Given the description of an element on the screen output the (x, y) to click on. 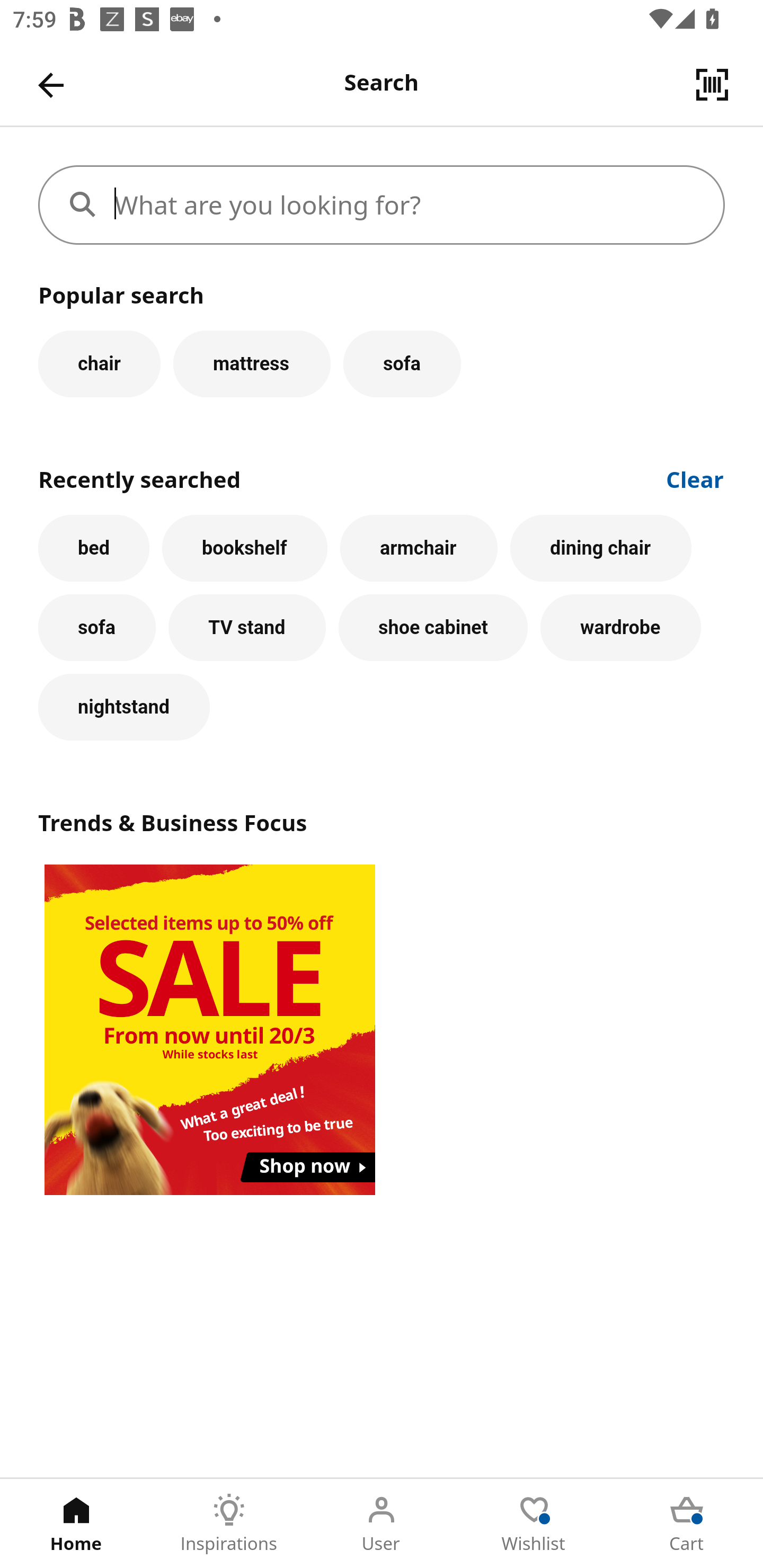
chair (99, 363)
mattress (251, 363)
sofa (401, 363)
Clear (695, 477)
bed (93, 547)
bookshelf (244, 547)
armchair (418, 547)
dining chair (600, 547)
sofa (96, 627)
TV stand (246, 627)
shoe cabinet (432, 627)
wardrobe (620, 627)
nightstand (123, 707)
Home
Tab 1 of 5 (76, 1522)
Inspirations
Tab 2 of 5 (228, 1522)
User
Tab 3 of 5 (381, 1522)
Wishlist
Tab 4 of 5 (533, 1522)
Cart
Tab 5 of 5 (686, 1522)
